Given the description of an element on the screen output the (x, y) to click on. 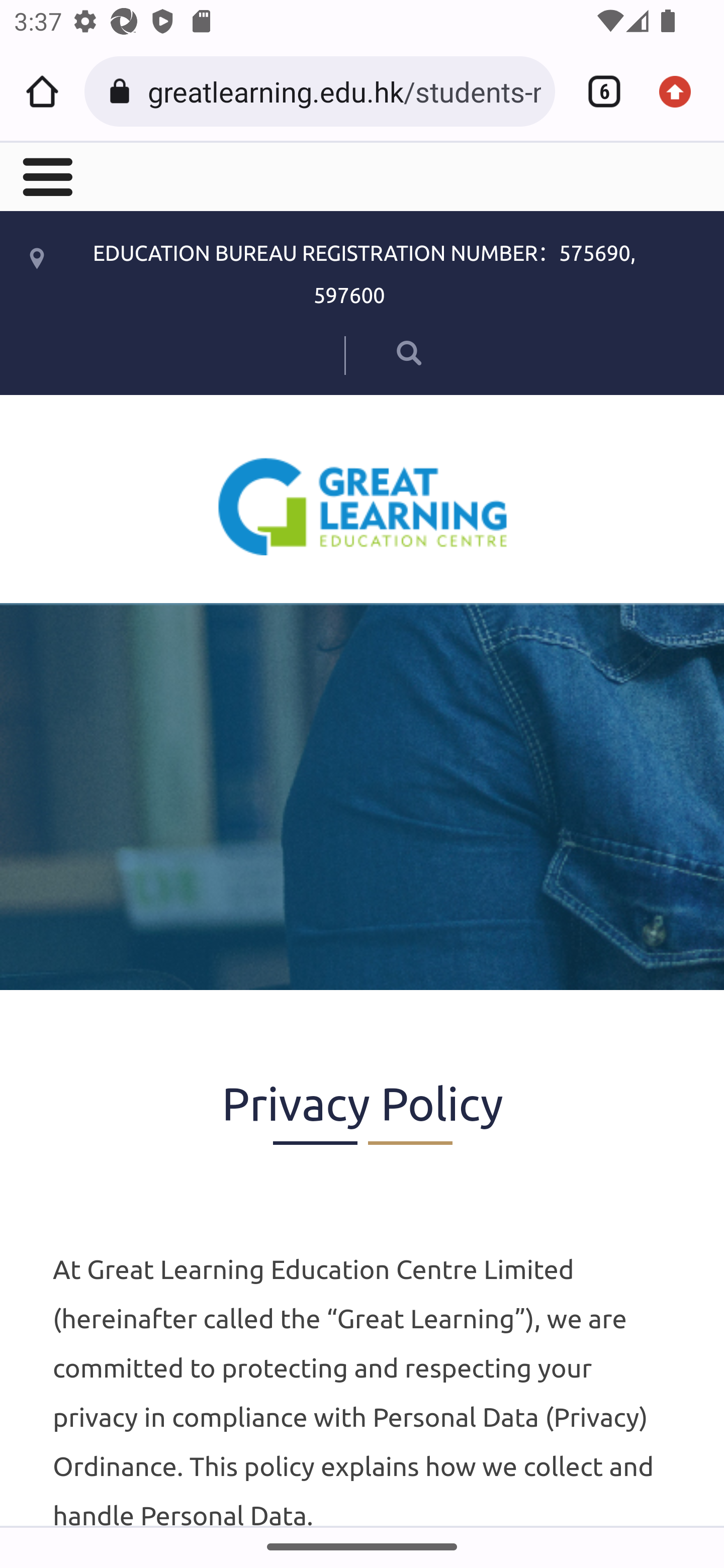
Home (42, 91)
Connection is secure (122, 91)
Switch or close tabs (597, 91)
Update available. More options (681, 91)
greatlearning.edu.hk/students-notice/privacy/ (343, 90)
 (45, 175)
 (382, 351)
Welcome to Great Learning Education Centre (362, 505)
